Given the description of an element on the screen output the (x, y) to click on. 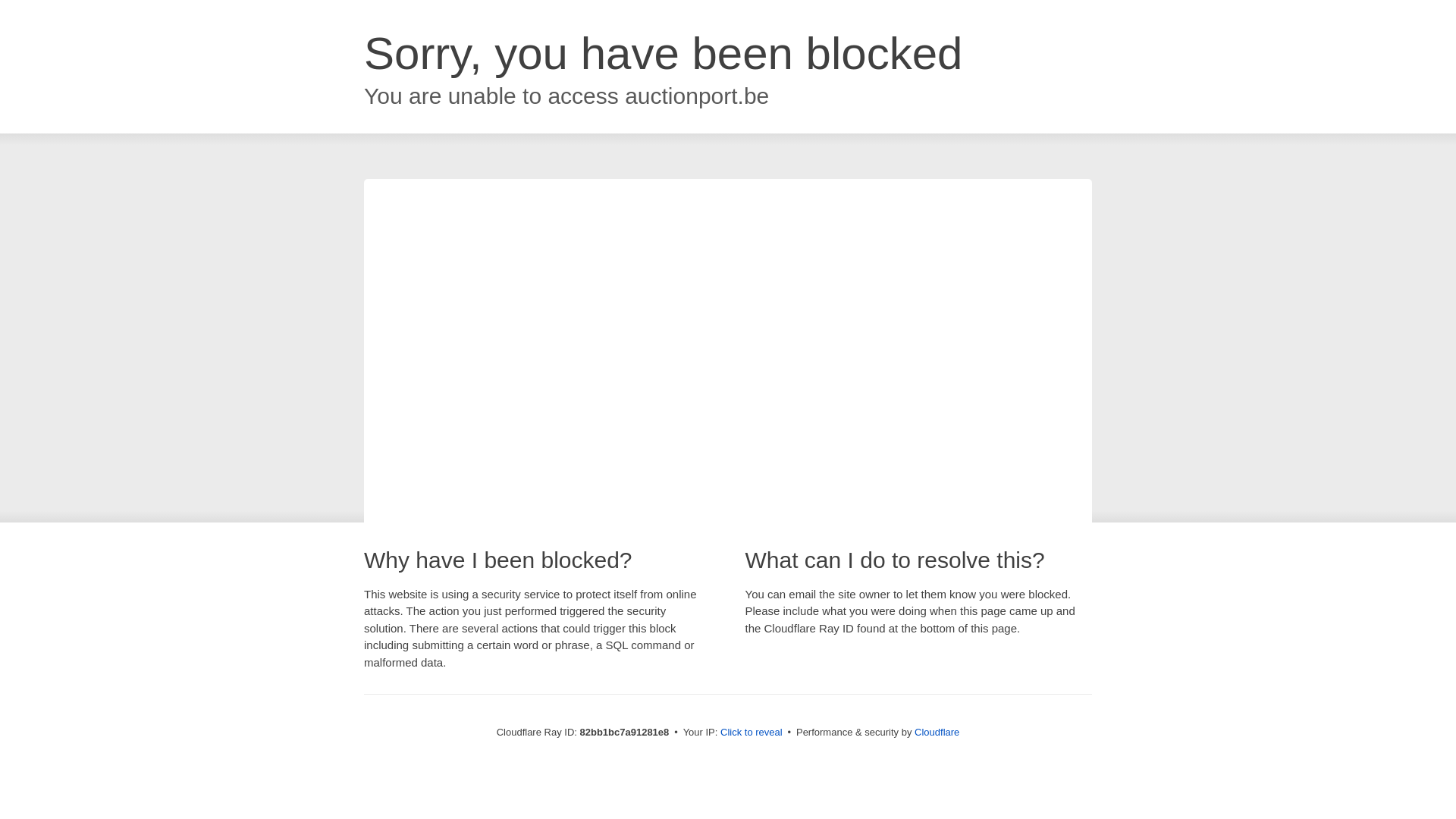
Cloudflare Element type: text (936, 731)
Click to reveal Element type: text (751, 732)
